Given the description of an element on the screen output the (x, y) to click on. 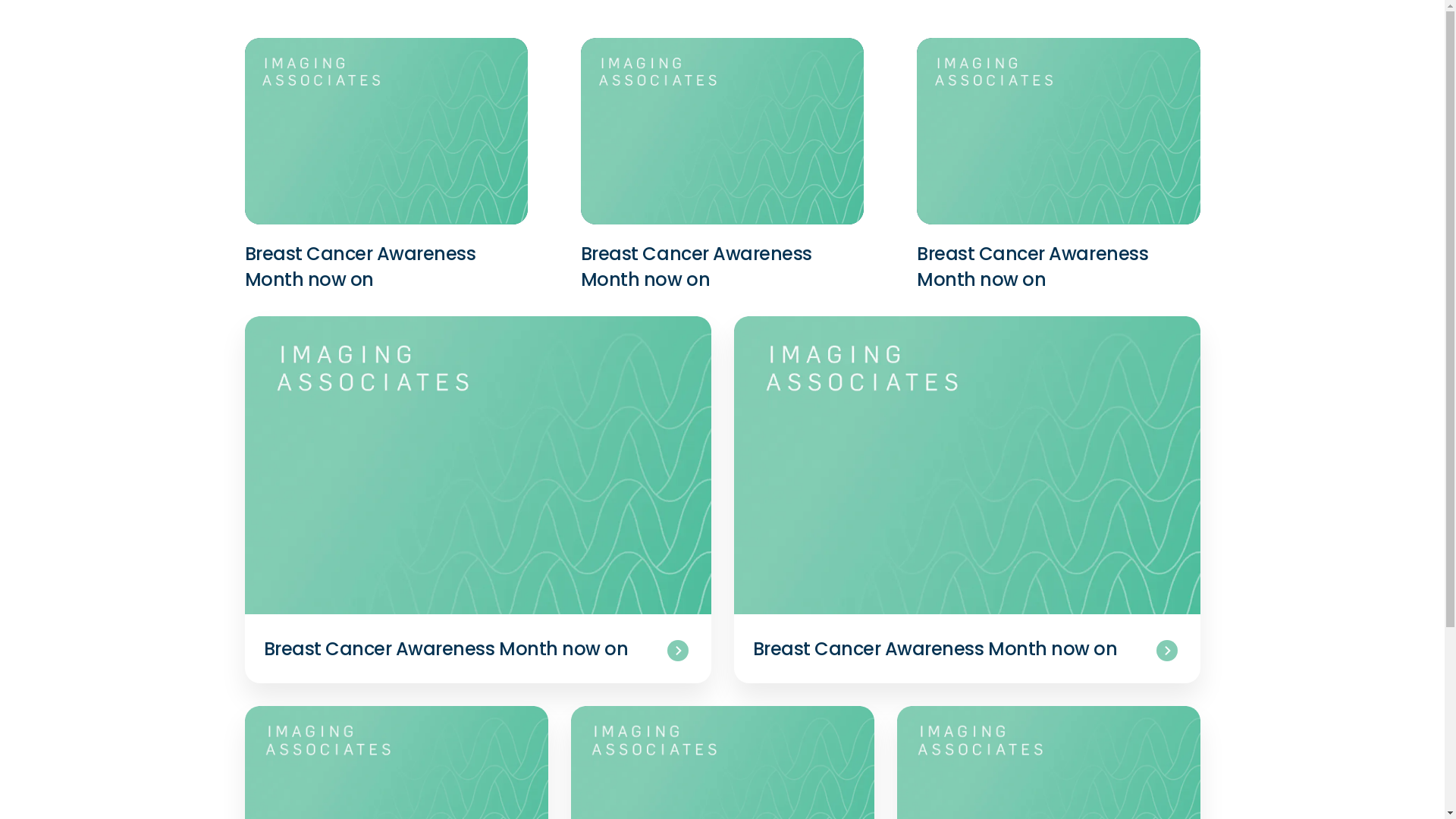
Breast Cancer Awareness Month now on Element type: text (715, 266)
Breast Cancer Awareness Month now on Element type: text (1051, 266)
Breast Cancer Awareness Month now on Element type: text (943, 649)
Breast Cancer Awareness Month now on Element type: text (378, 266)
Breast Cancer Awareness Month now on Element type: text (454, 649)
